Given the description of an element on the screen output the (x, y) to click on. 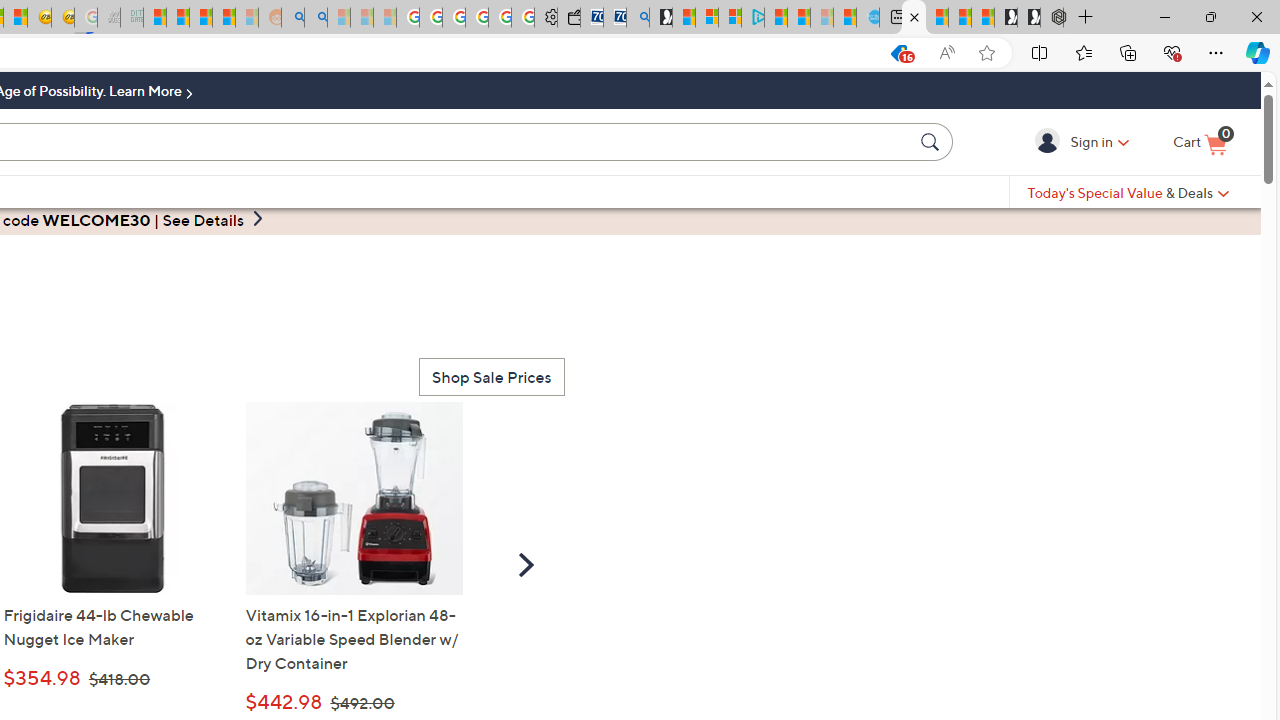
Wallet (568, 17)
Bing Real Estate - Home sales and rental listings (637, 17)
Search Submit (932, 141)
